Given the description of an element on the screen output the (x, y) to click on. 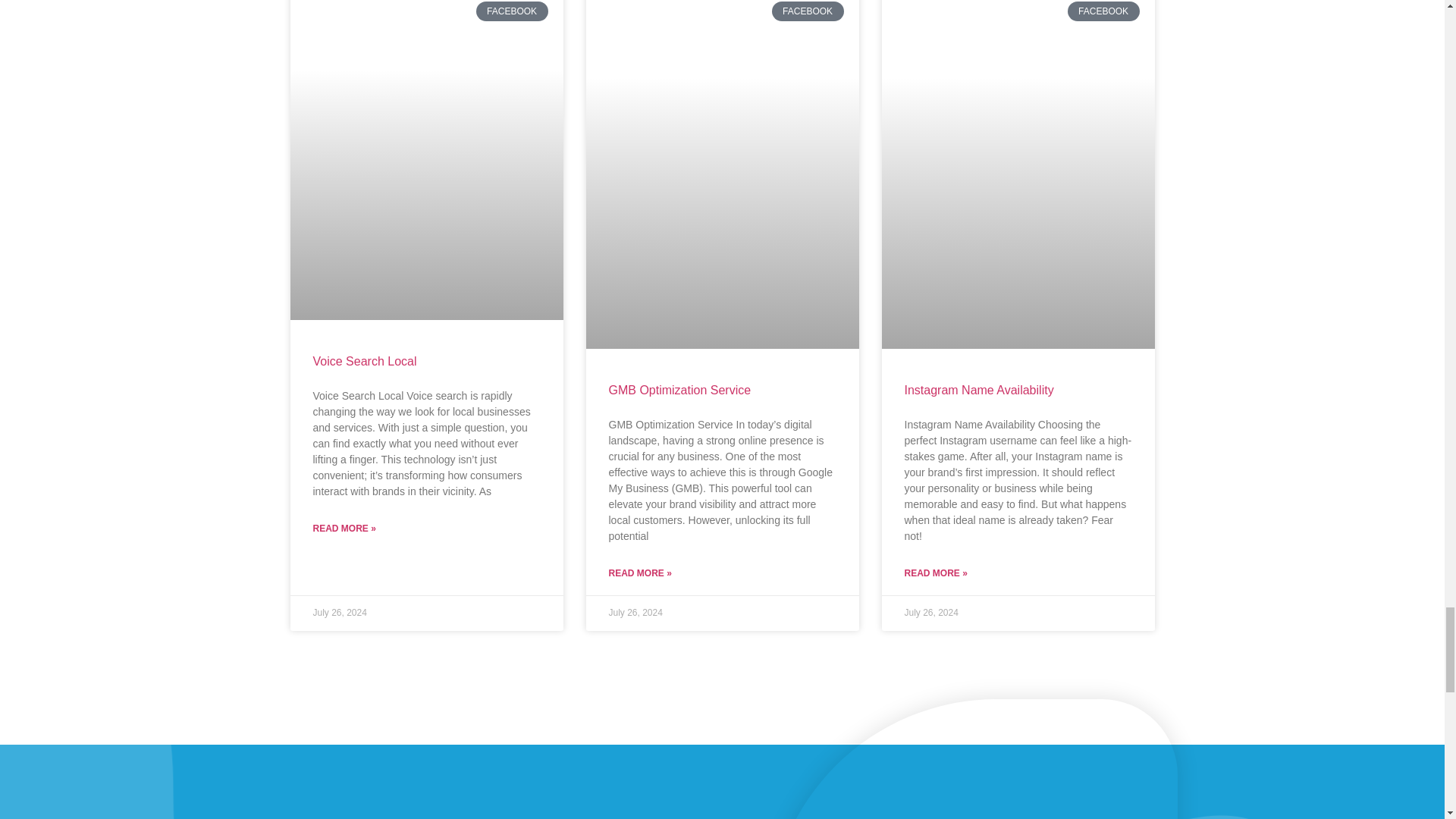
Voice Search Local (364, 360)
GMB Optimization Service (679, 390)
Instagram Name Availability (978, 390)
